Given the description of an element on the screen output the (x, y) to click on. 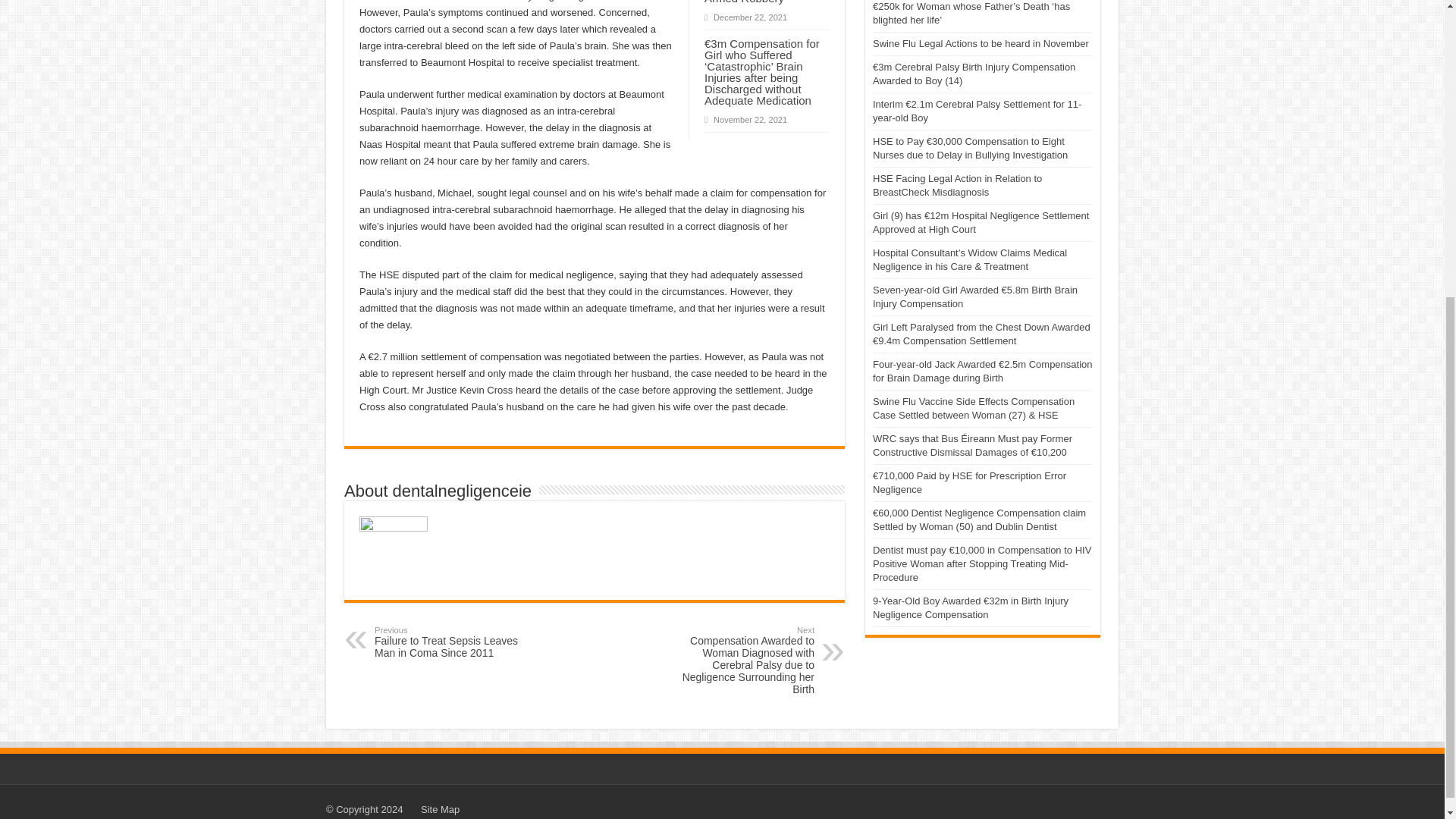
Site Map (440, 808)
Swine Flu Legal Actions to be heard in November (980, 43)
